Given the description of an element on the screen output the (x, y) to click on. 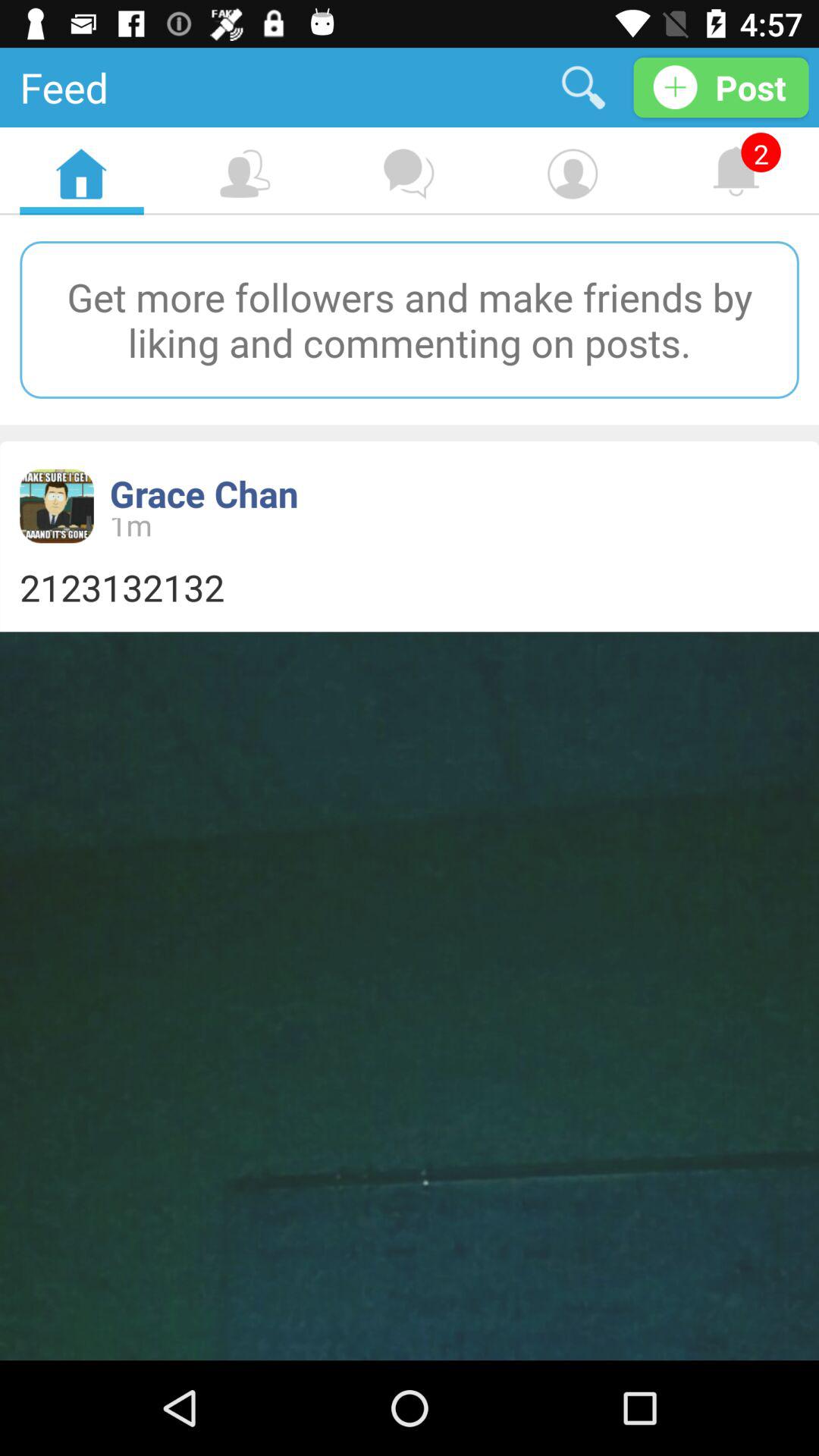
press the 2123132132 (409, 587)
